Given the description of an element on the screen output the (x, y) to click on. 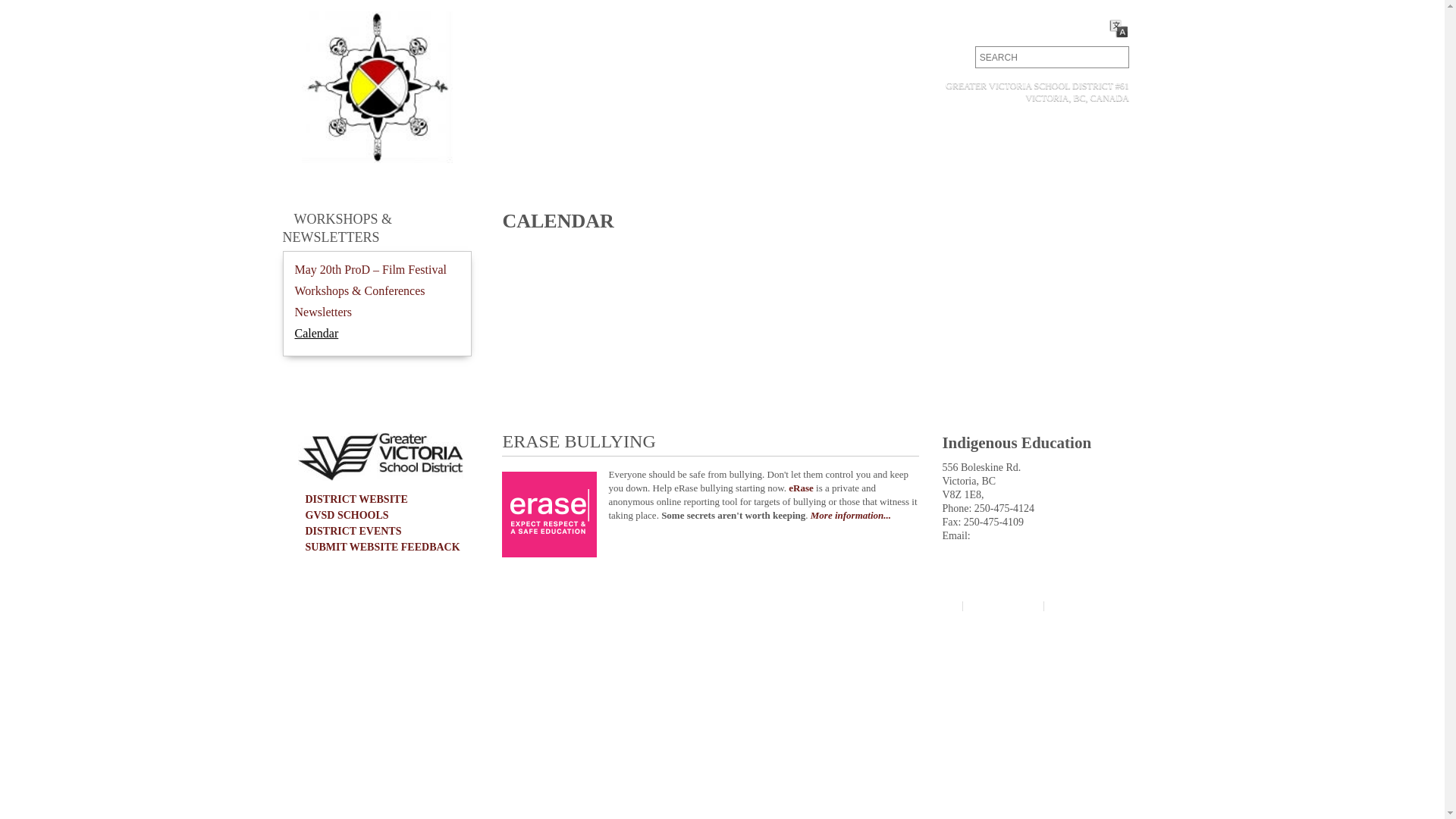
GVSD SCHOOLS Element type: text (346, 514)
GREATER VICTORIA SCHOOL DISTRICT Element type: text (411, 605)
DISTRICT WEBSITE Element type: text (355, 499)
More information... Element type: text (850, 514)
SITE INFO Element type: text (1002, 605)
CONTACT Element type: text (1001, 27)
SUBMIT WEBSITE FEEDBACK Element type: text (381, 546)
CREDITS Element type: text (1081, 605)
eRase Element type: text (800, 487)
  Element type: text (1112, 57)
Calendar Element type: text (316, 332)
Workshops & Conferences Element type: text (359, 290)
SITEMAP Element type: text (924, 605)
Newsletters Element type: text (322, 311)
DISTRICT EVENTS Element type: text (352, 530)
WORKSHOPS & NEWSLETTERS Element type: text (337, 227)
